Given the description of an element on the screen output the (x, y) to click on. 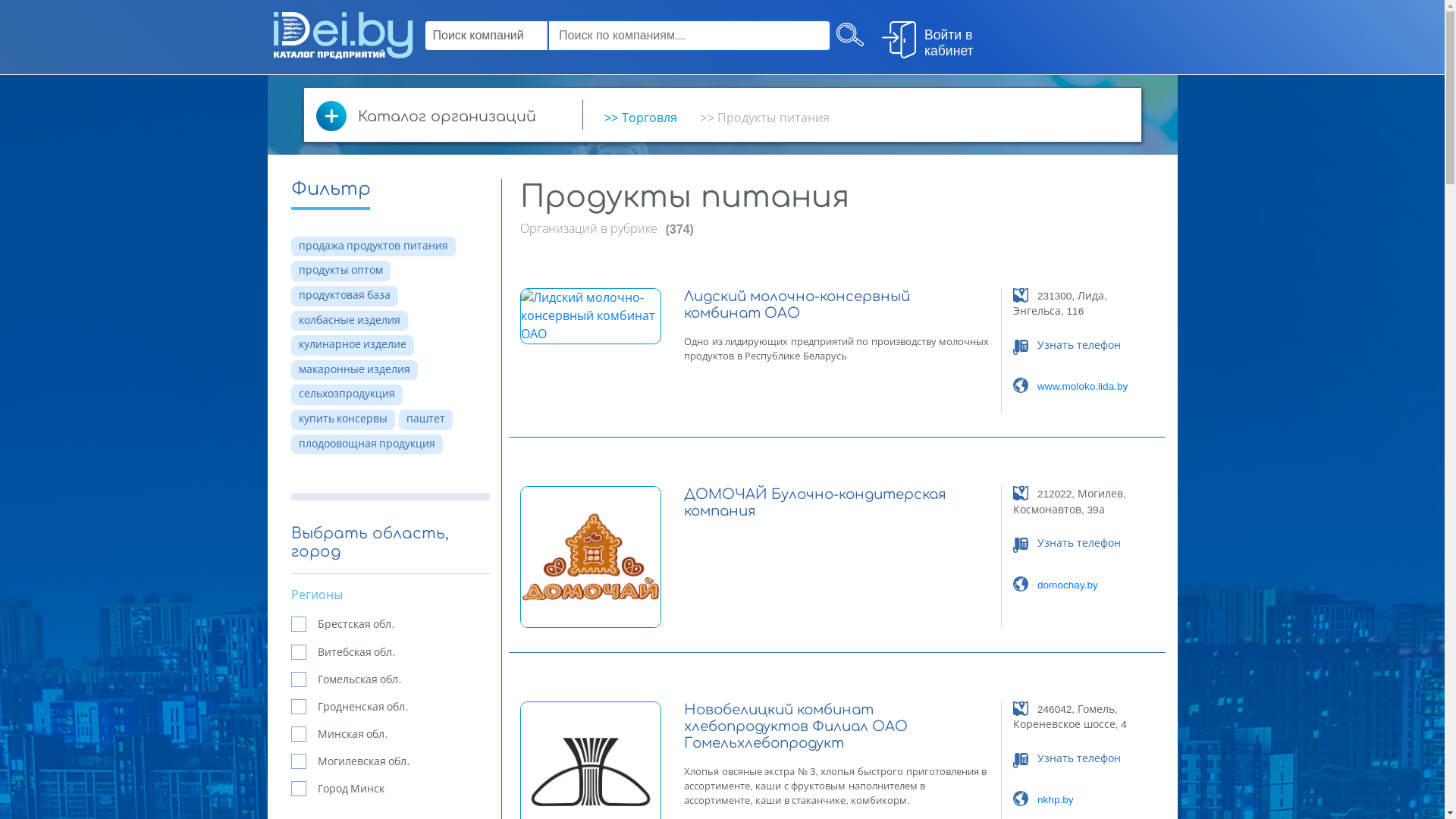
  Element type: text (849, 37)
idei.by Element type: hover (342, 34)
domochay.by Element type: text (1067, 584)
nkhp.by Element type: text (1055, 799)
www.moloko.lida.by Element type: text (1082, 386)
